Given the description of an element on the screen output the (x, y) to click on. 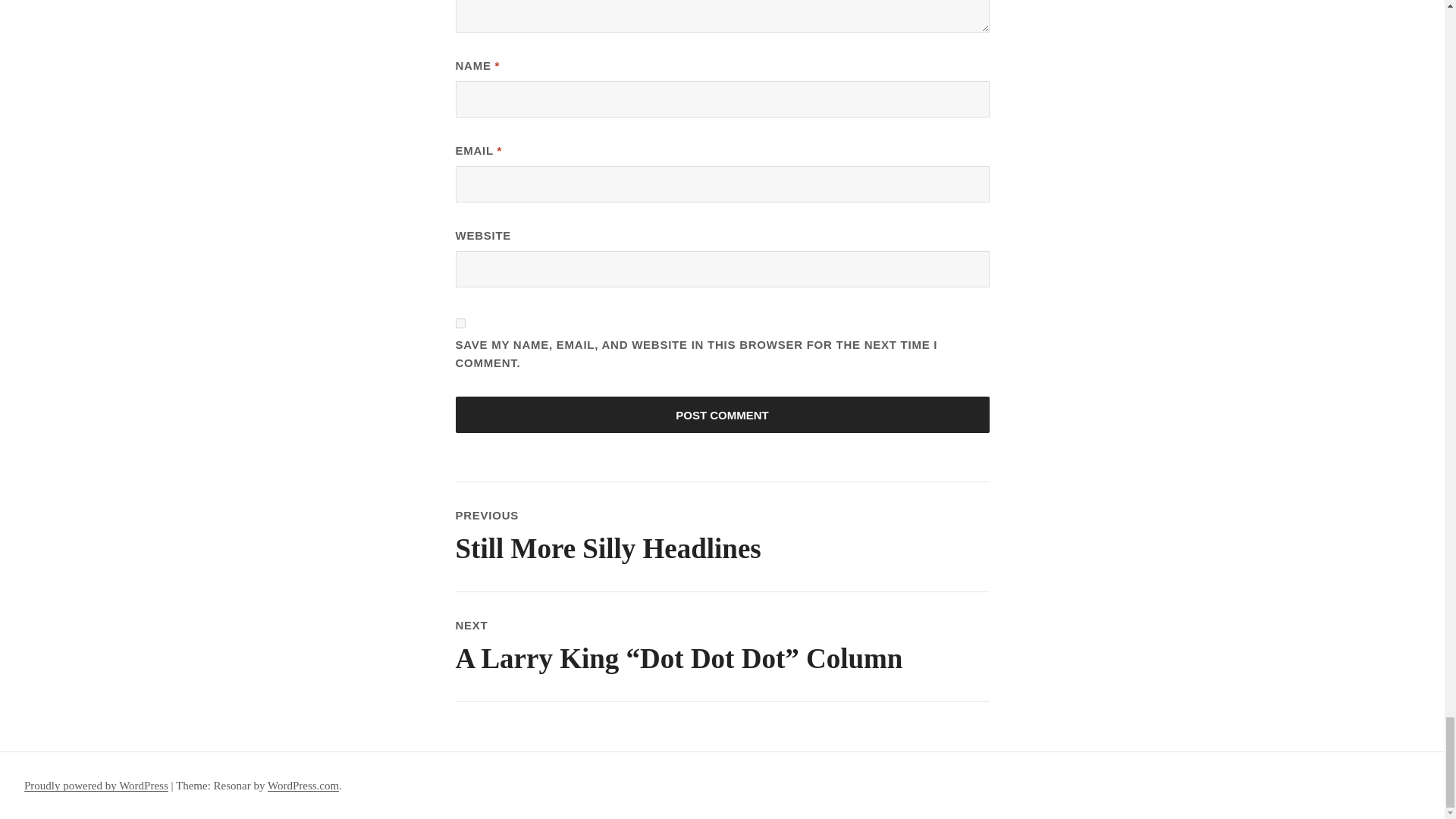
Post Comment (721, 536)
Post Comment (721, 414)
yes (721, 414)
